Given the description of an element on the screen output the (x, y) to click on. 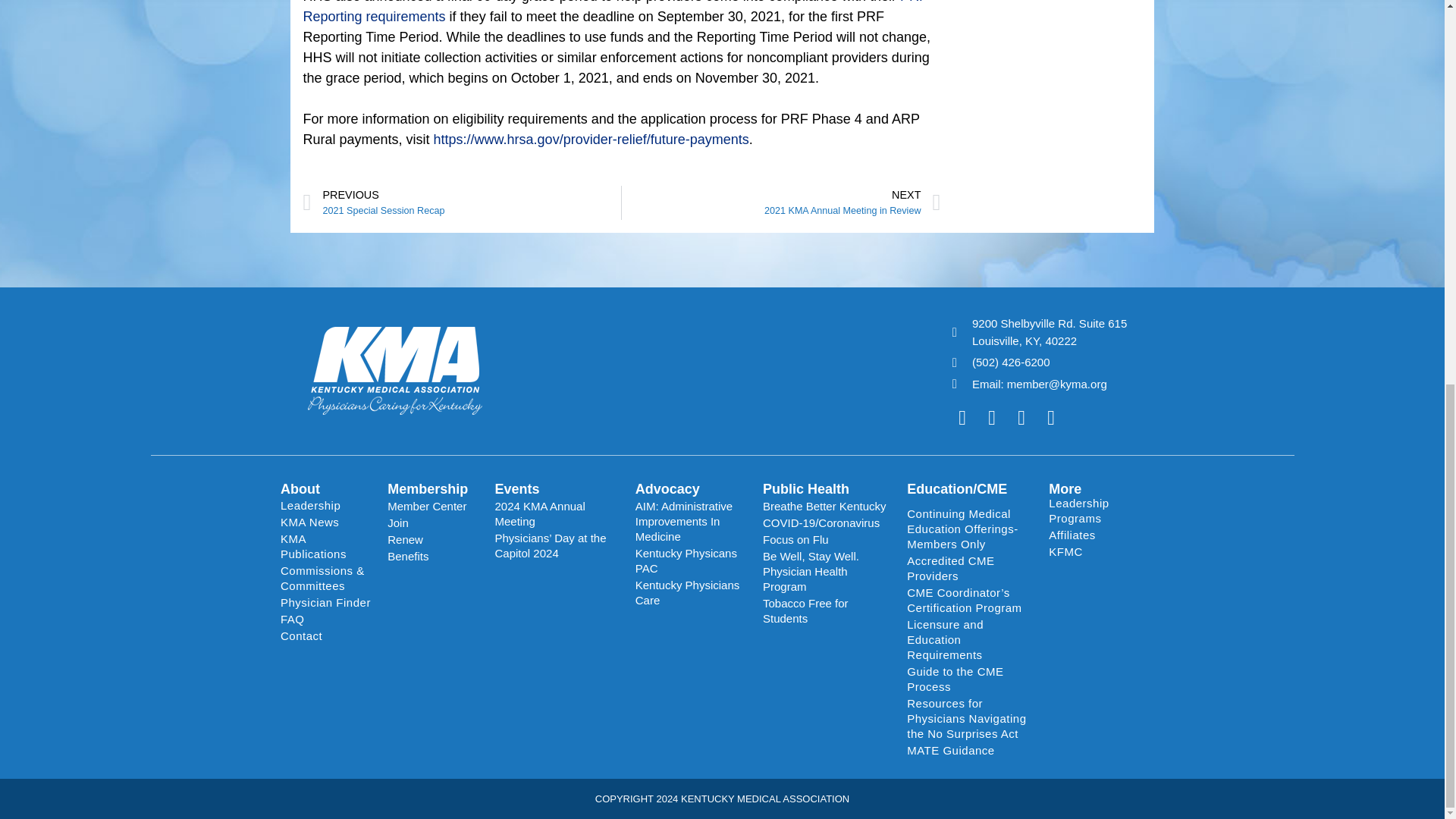
PRF Reporting requirements (780, 202)
Leadership (614, 12)
KMA Publications (461, 202)
KMA News (326, 505)
About (326, 546)
Physician Finder (326, 522)
